Given the description of an element on the screen output the (x, y) to click on. 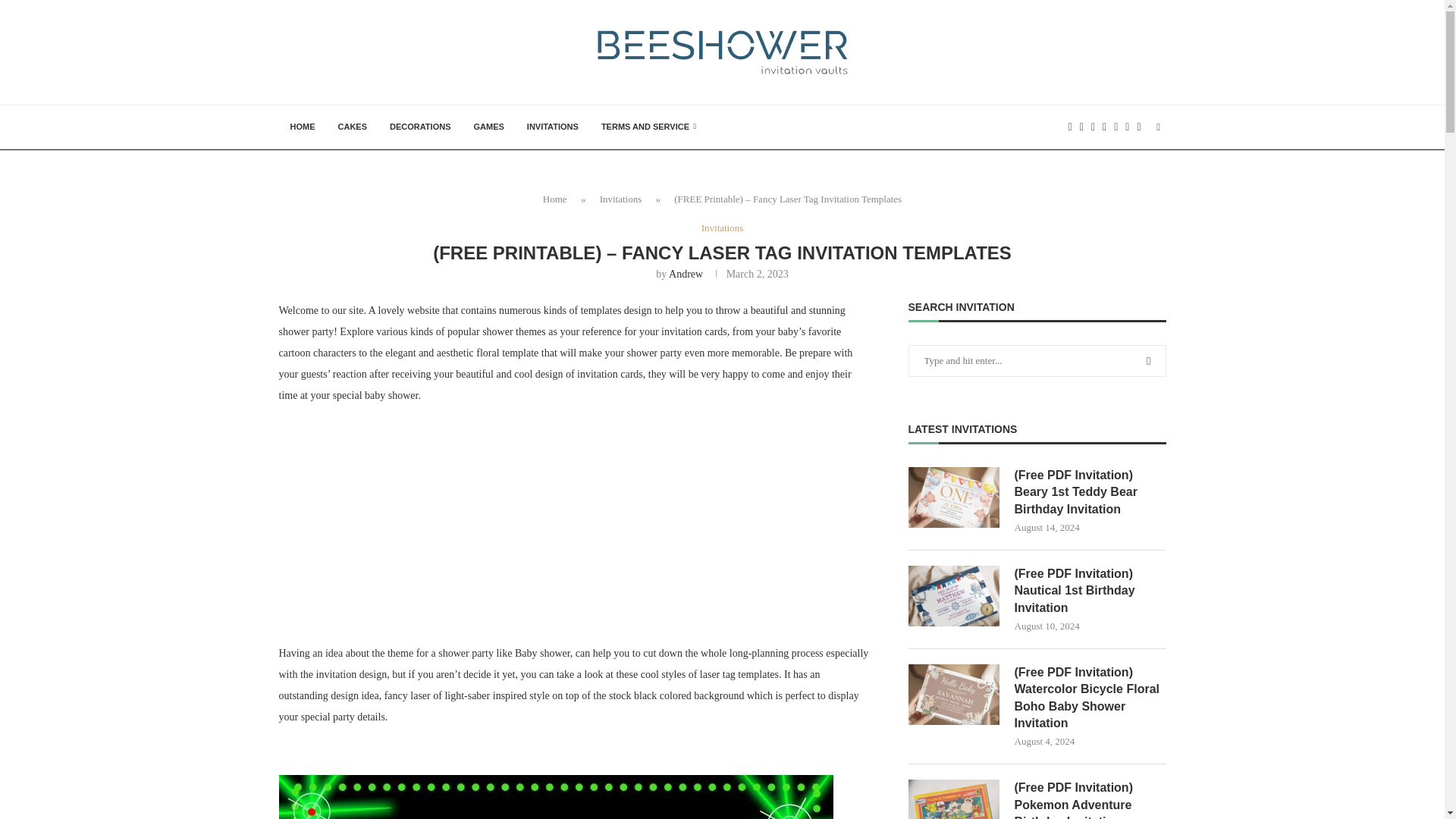
CAKES (352, 126)
HOME (302, 126)
Home (555, 198)
DECORATIONS (419, 126)
Invitations (722, 227)
Andrew (685, 274)
TERMS AND SERVICE (648, 126)
INVITATIONS (552, 126)
Invitations (620, 198)
GAMES (488, 126)
